Given the description of an element on the screen output the (x, y) to click on. 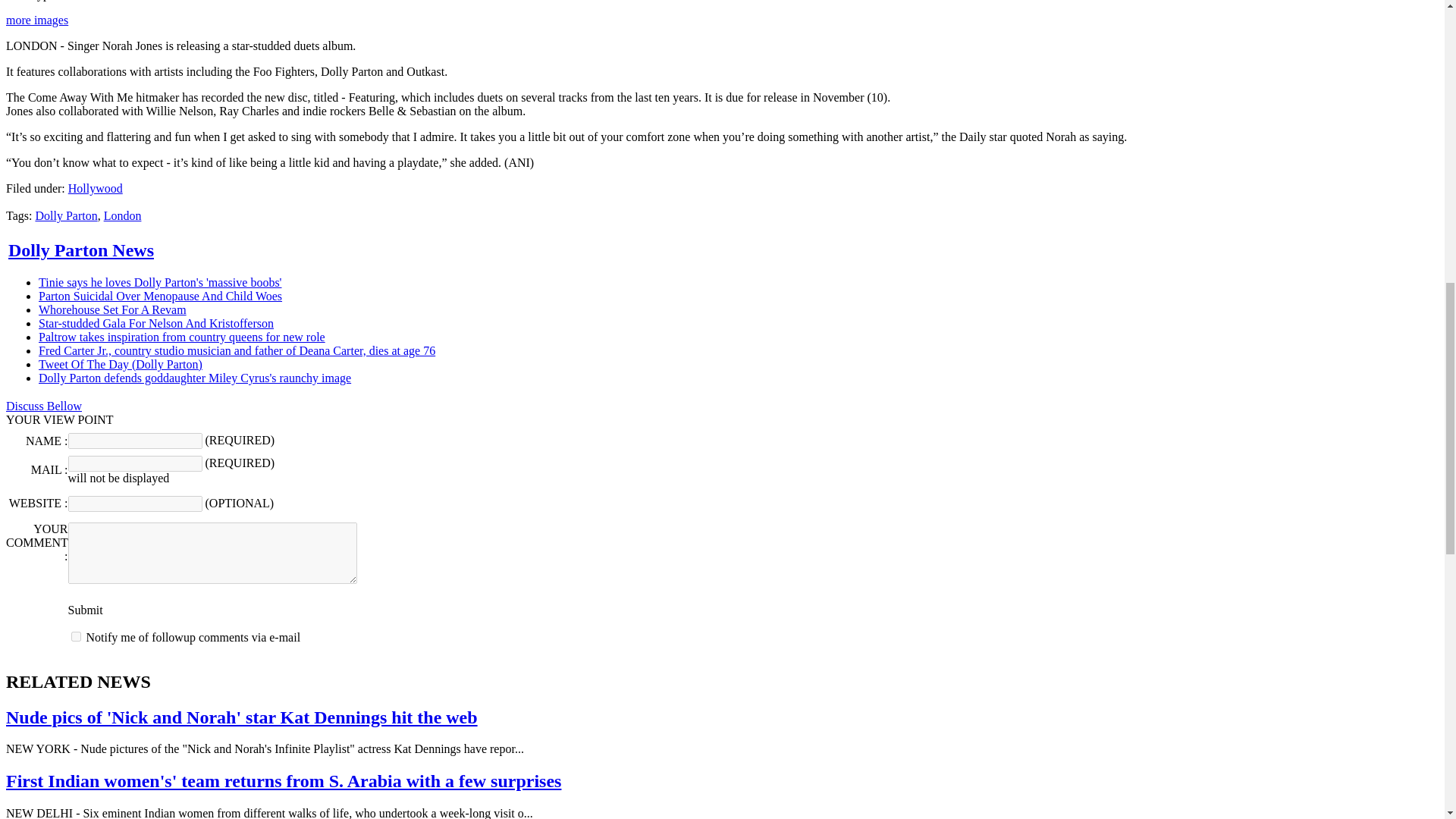
subscribe (76, 636)
